Given the description of an element on the screen output the (x, y) to click on. 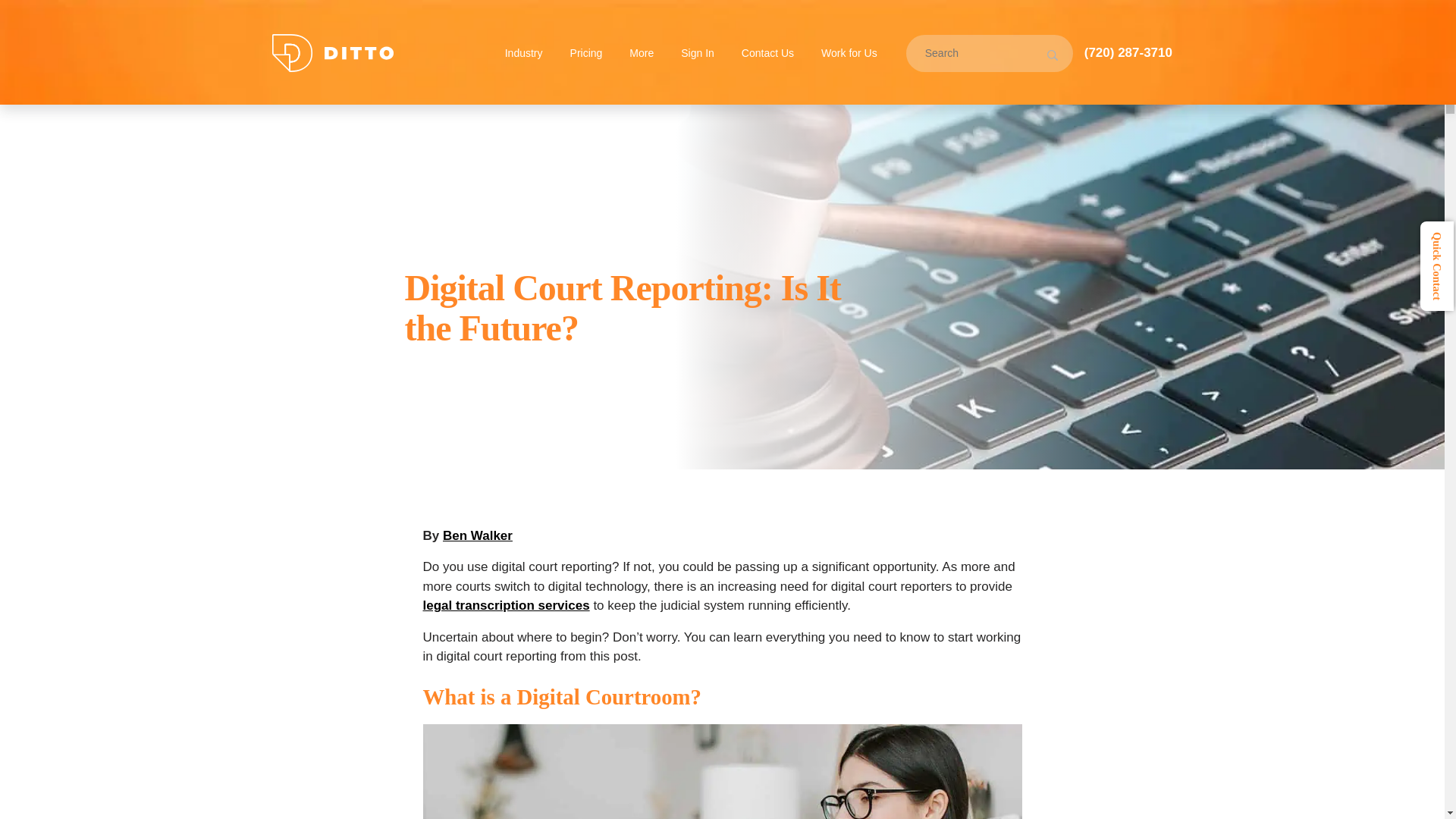
Contact Us (767, 53)
Work for Us (849, 53)
